Given the description of an element on the screen output the (x, y) to click on. 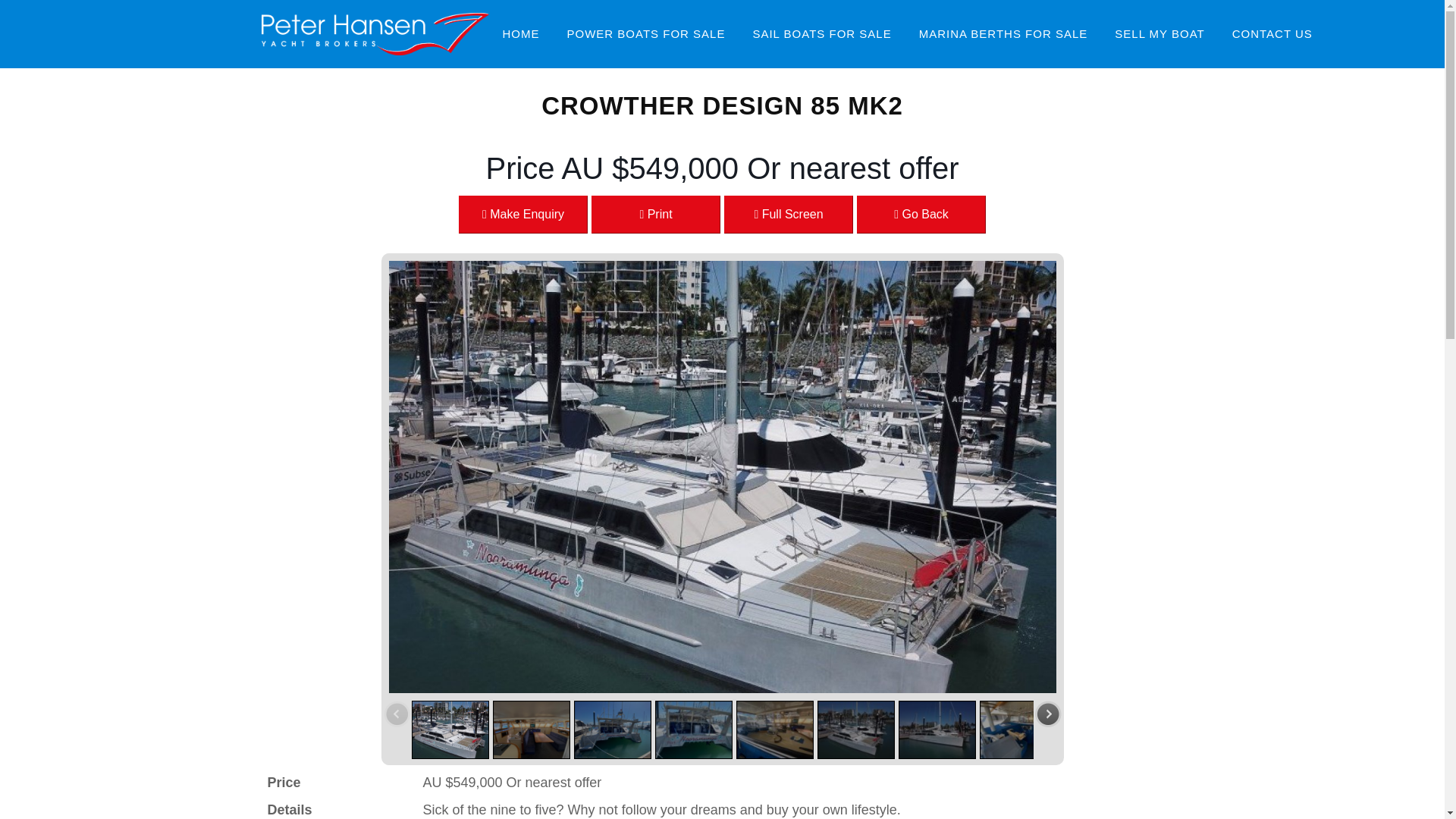
Full Screen (646, 34)
SELL MY BOAT (788, 214)
HOME (1158, 34)
Print (520, 34)
Go Back (655, 214)
CONTACT US (921, 214)
Make Enquiry (1272, 34)
